Given the description of an element on the screen output the (x, y) to click on. 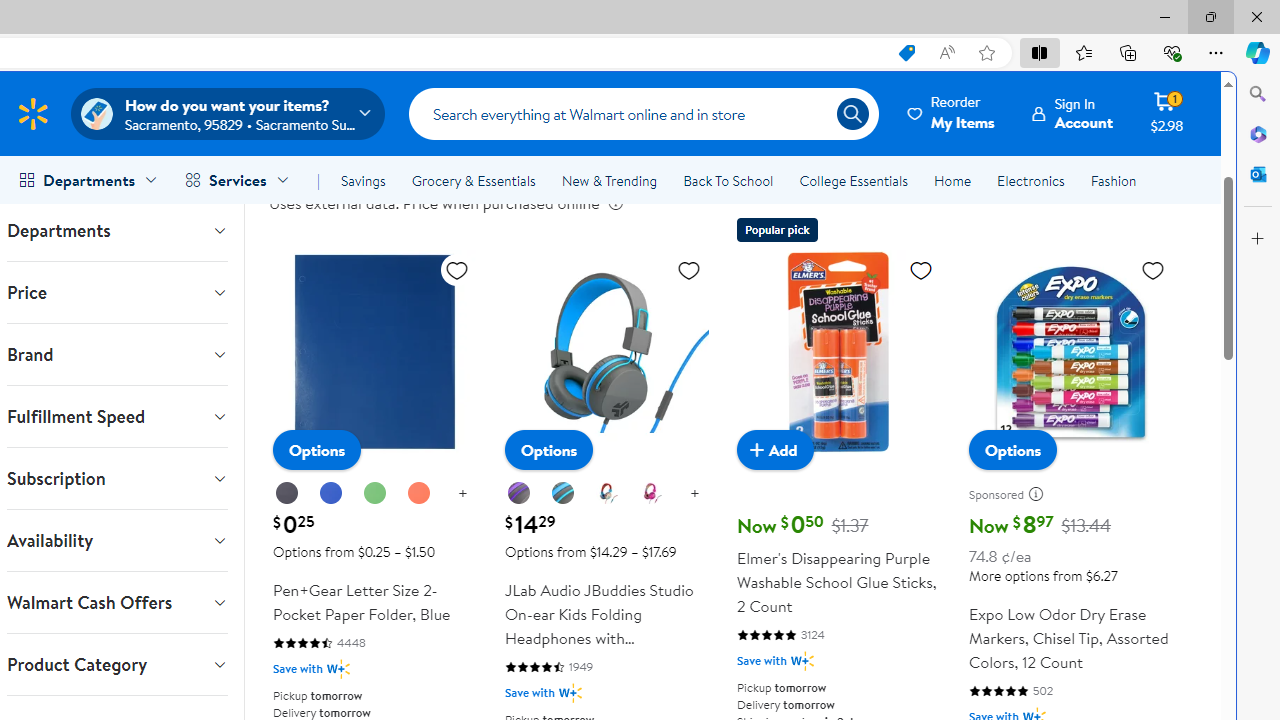
Orange (418, 493)
This site has coupons! Shopping in Microsoft Edge, 7 (906, 53)
Grocery & Essentials (473, 180)
Electronics (1030, 180)
Orange (418, 494)
Green (375, 494)
Multicolor (607, 494)
New & Trending (608, 180)
